Given the description of an element on the screen output the (x, y) to click on. 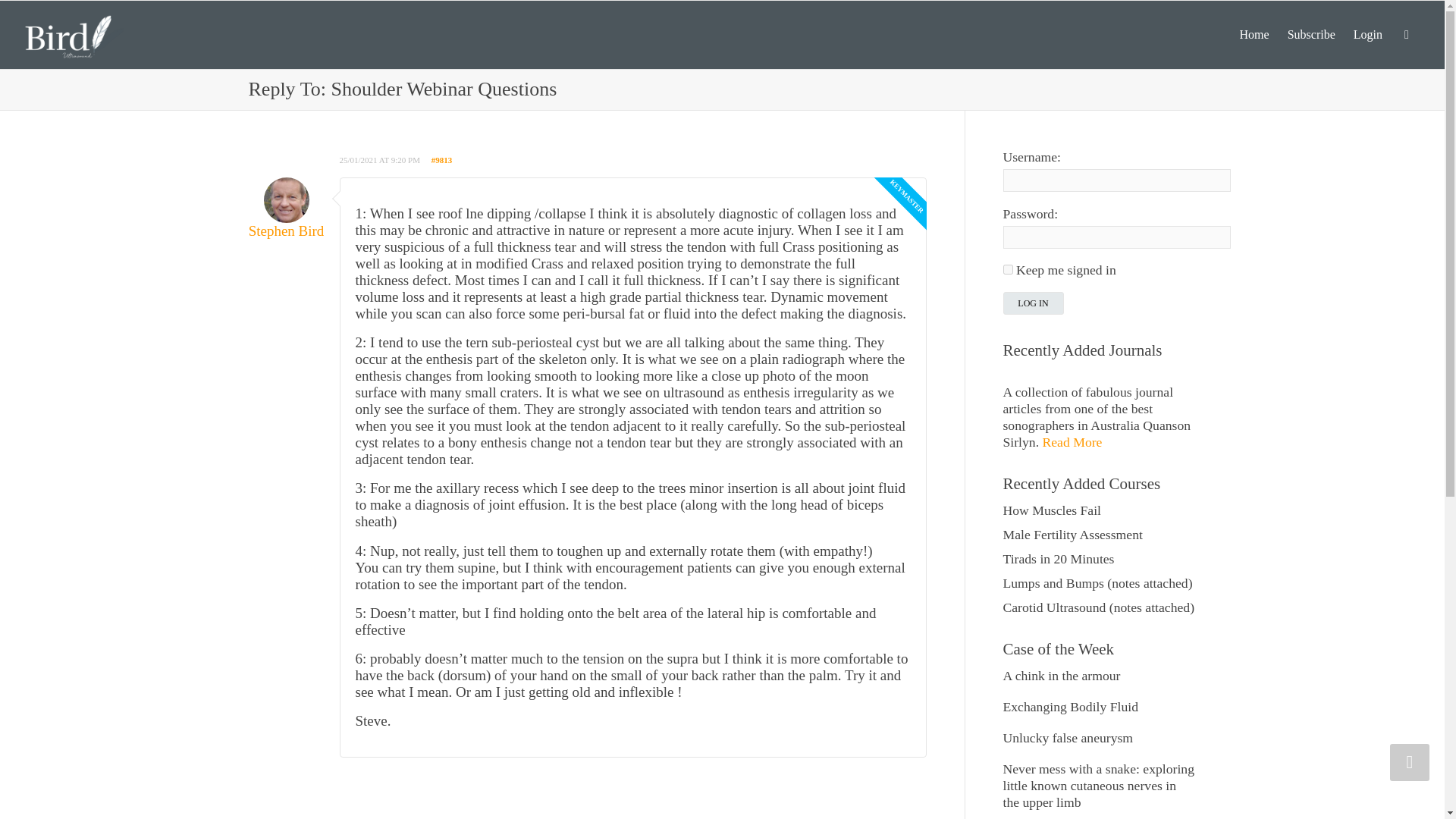
forever (1007, 269)
Male Fertility Assessment (1072, 534)
LOG IN (1032, 302)
Read More (1072, 441)
Stephen Bird (286, 214)
Subscribe (1311, 34)
View Stephen Bird's profile (286, 214)
Login (1367, 34)
View cart (1406, 34)
Exchanging Bodily Fluid (1070, 706)
Male Fertility Assessment (1072, 534)
Unlucky false aneurysm (1067, 737)
How Muscles Fail (1051, 509)
Bird Ultrasound (74, 33)
